Given the description of an element on the screen output the (x, y) to click on. 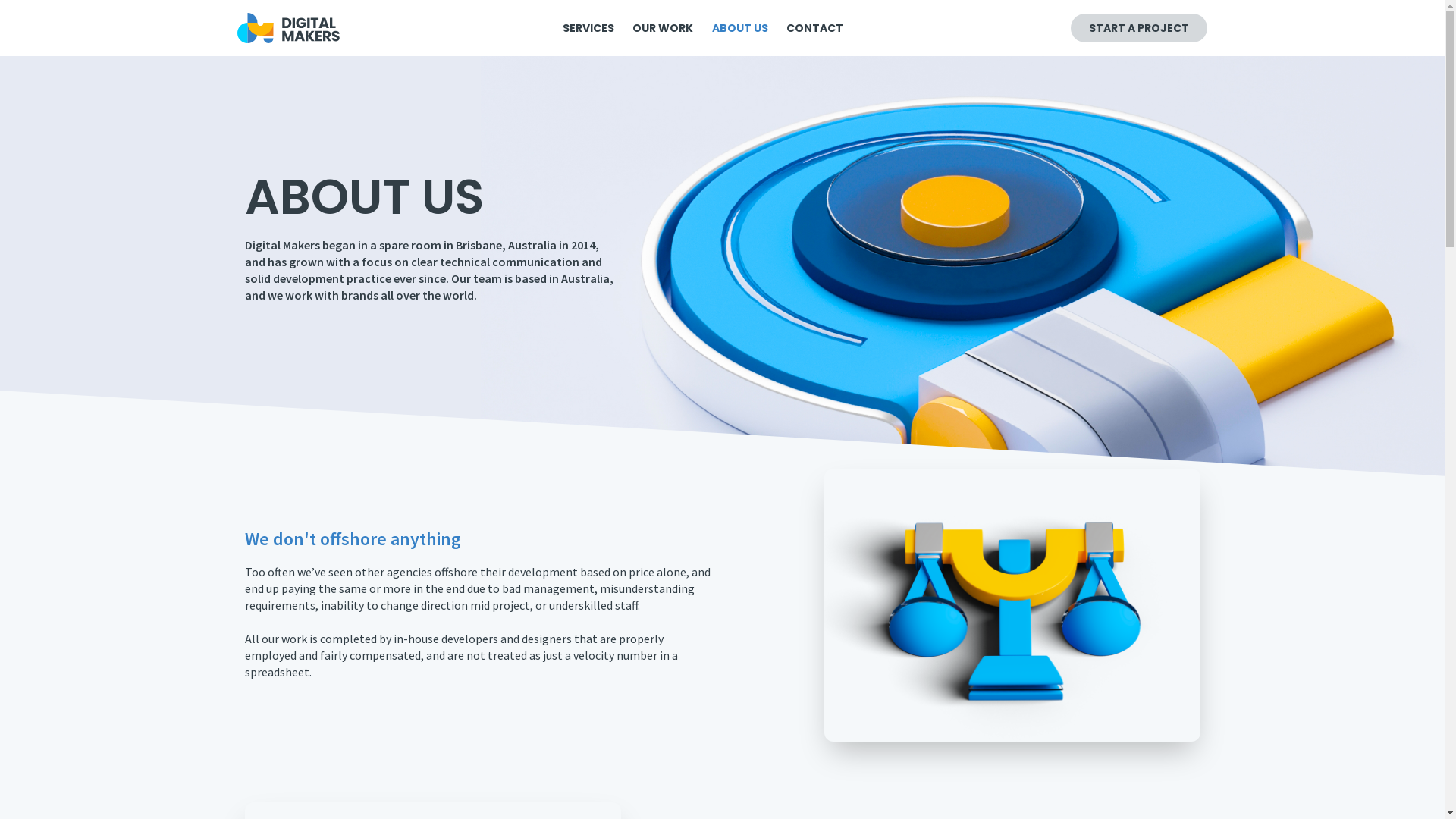
CONTACT Element type: text (814, 27)
SERVICES Element type: text (588, 27)
ABOUT US Element type: text (739, 27)
START A PROJECT Element type: text (1138, 27)
Digital Makers Element type: hover (287, 27)
dm_icons_values_integrity Element type: hover (1011, 604)
OUR WORK Element type: text (662, 27)
